Given the description of an element on the screen output the (x, y) to click on. 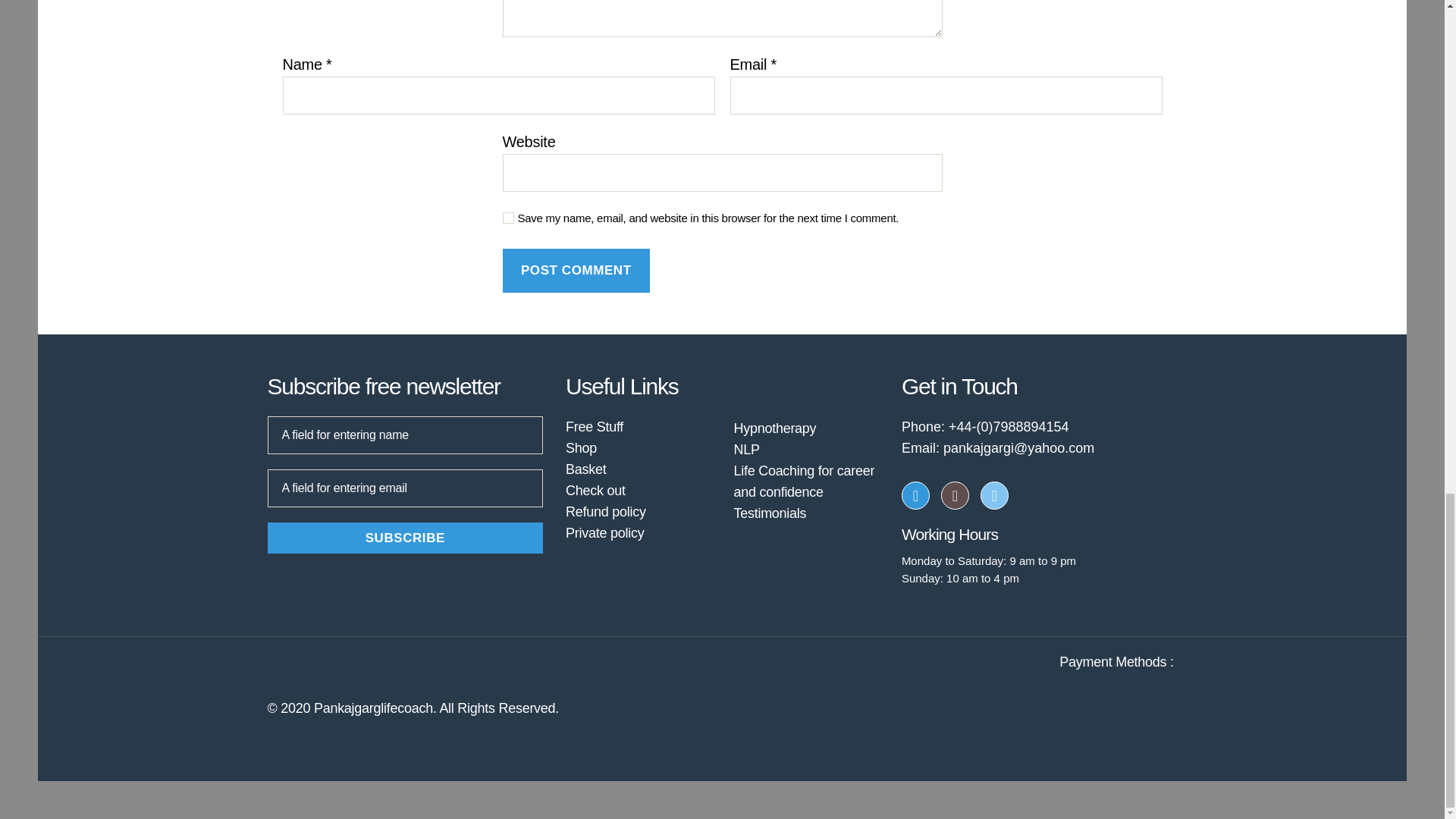
Post Comment (575, 270)
yes (507, 217)
Subscribe (404, 537)
